Given the description of an element on the screen output the (x, y) to click on. 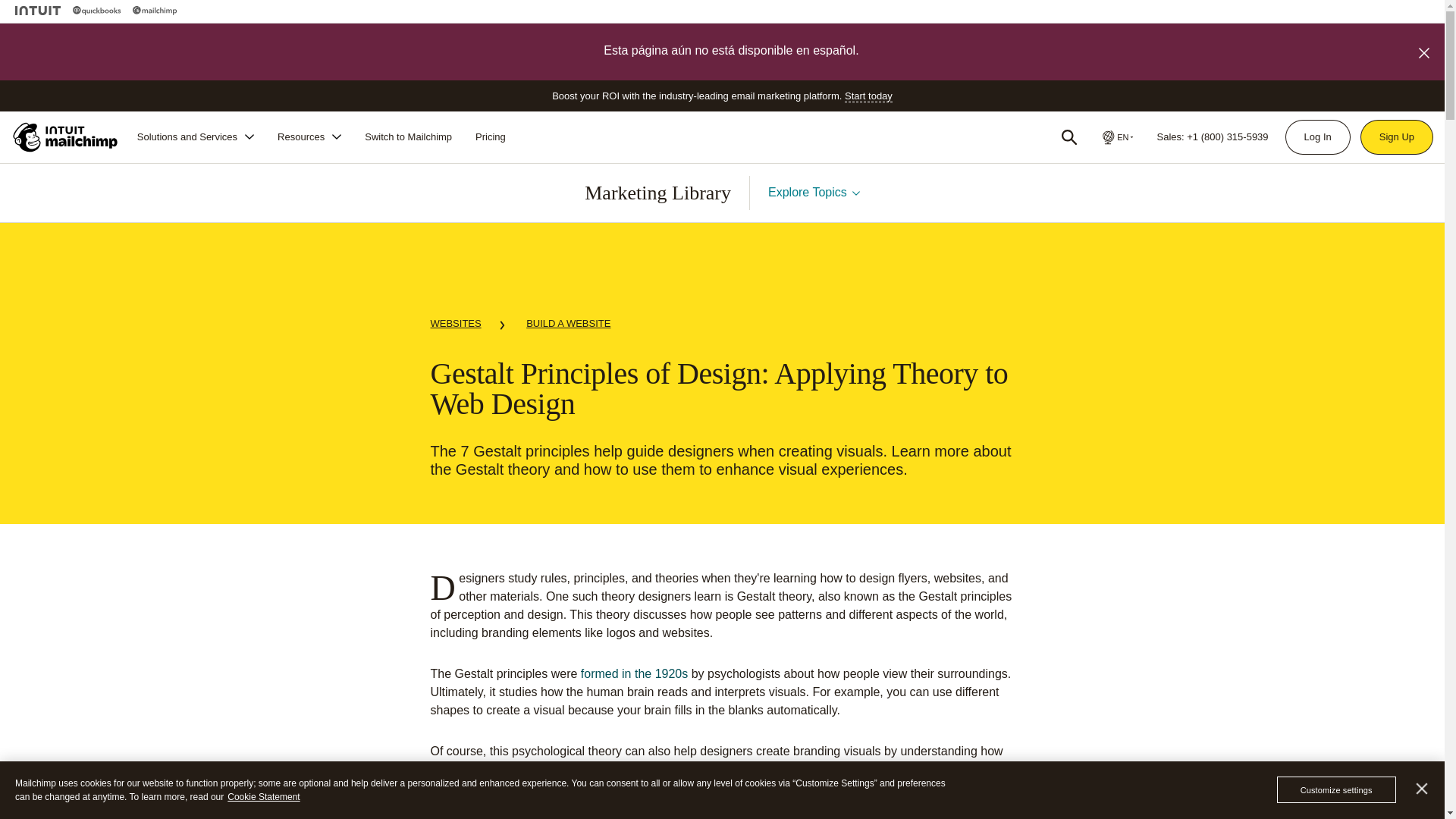
Solutions and Services (195, 137)
Log In (1317, 136)
Sign Up (1396, 136)
Switch to Mailchimp (408, 137)
Search (1069, 136)
Explore Topics (814, 192)
Pricing (490, 137)
Resources (308, 137)
Start today (868, 96)
Marketing Library (657, 192)
